Given the description of an element on the screen output the (x, y) to click on. 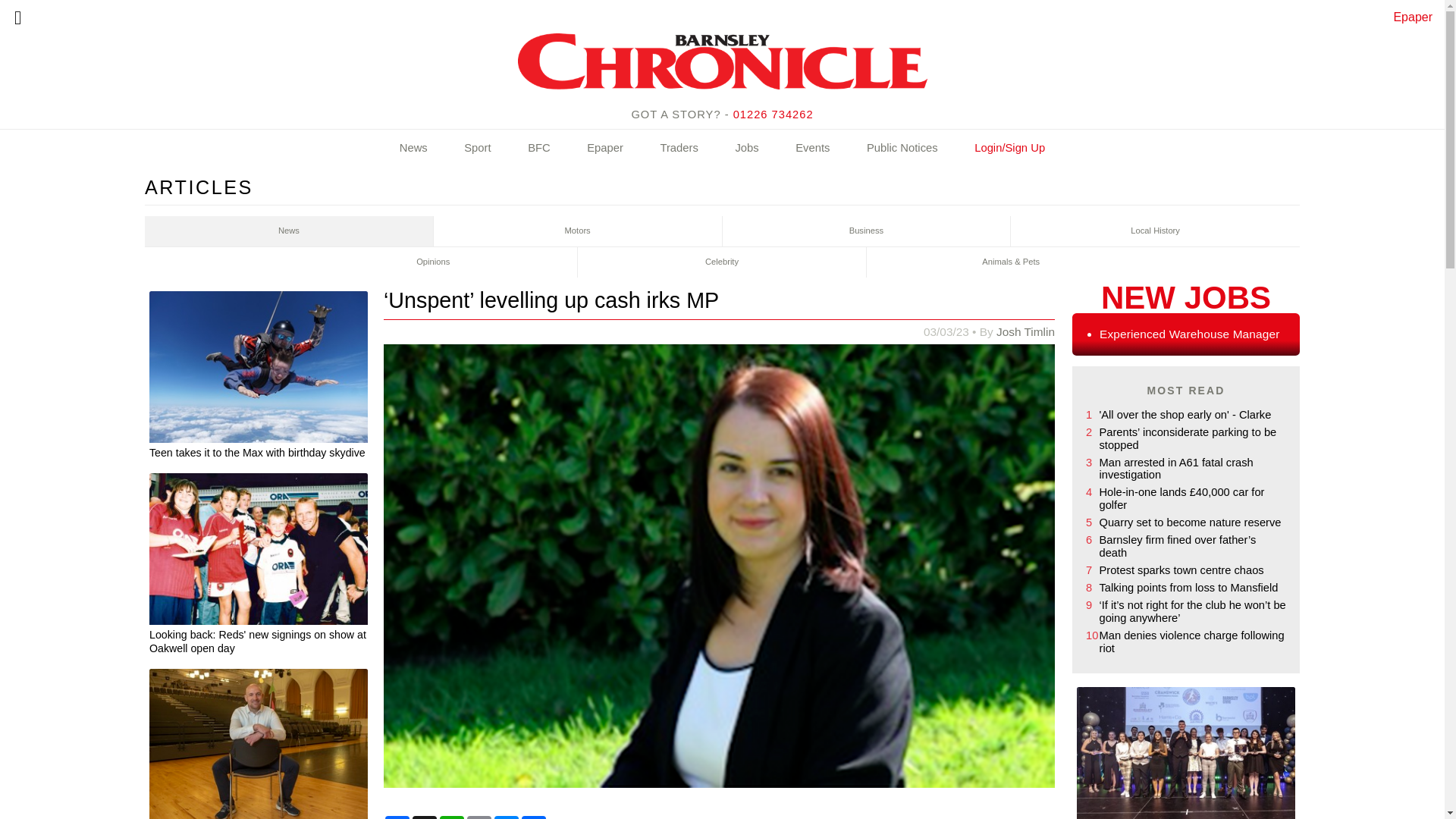
BFC (539, 148)
Events (812, 148)
News (413, 148)
Motors (577, 231)
Celebrity (722, 262)
Business (866, 231)
Public Notices (902, 148)
Local History (1155, 231)
Epaper (1412, 16)
Traders (678, 148)
